Given the description of an element on the screen output the (x, y) to click on. 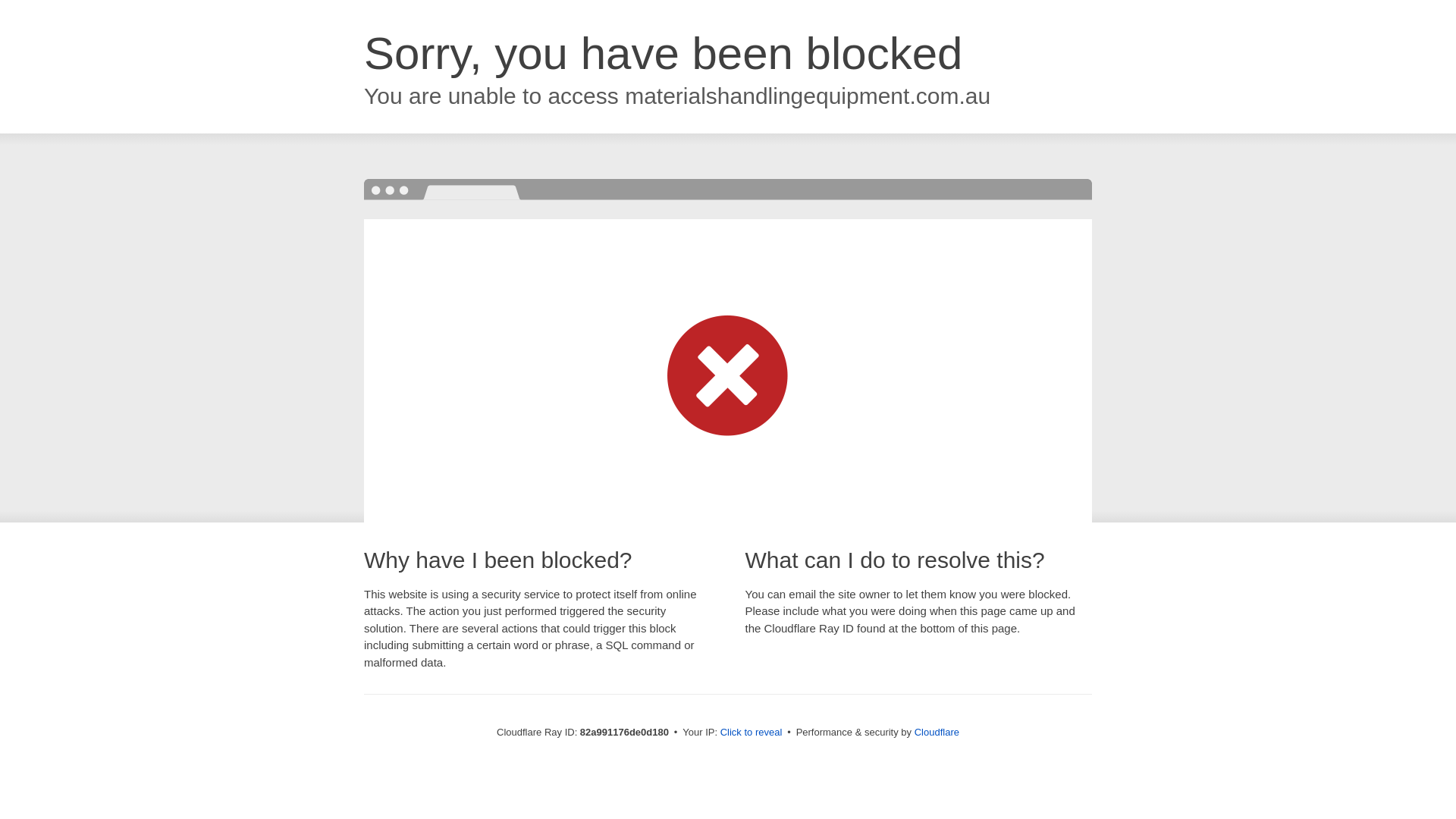
Click to reveal Element type: text (751, 732)
Cloudflare Element type: text (936, 731)
